Given the description of an element on the screen output the (x, y) to click on. 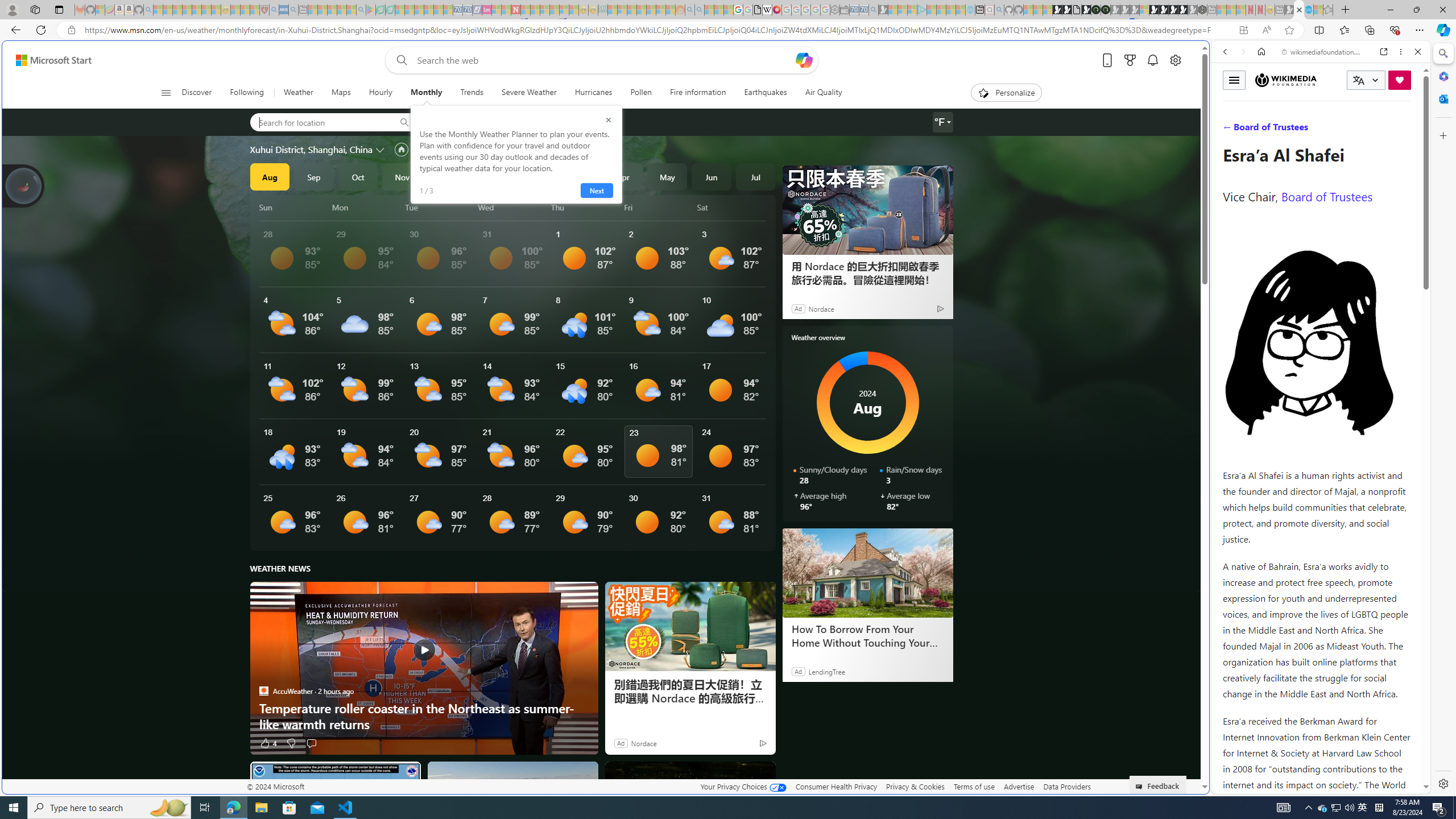
Trends (471, 92)
How To Borrow From Your Home Without Touching Your Mortgage (867, 572)
Earthquakes (765, 92)
Class: i icon icon-translate language-switcher__icon (1358, 80)
Aberdeen (459, 121)
Global web icon (1232, 786)
